Given the description of an element on the screen output the (x, y) to click on. 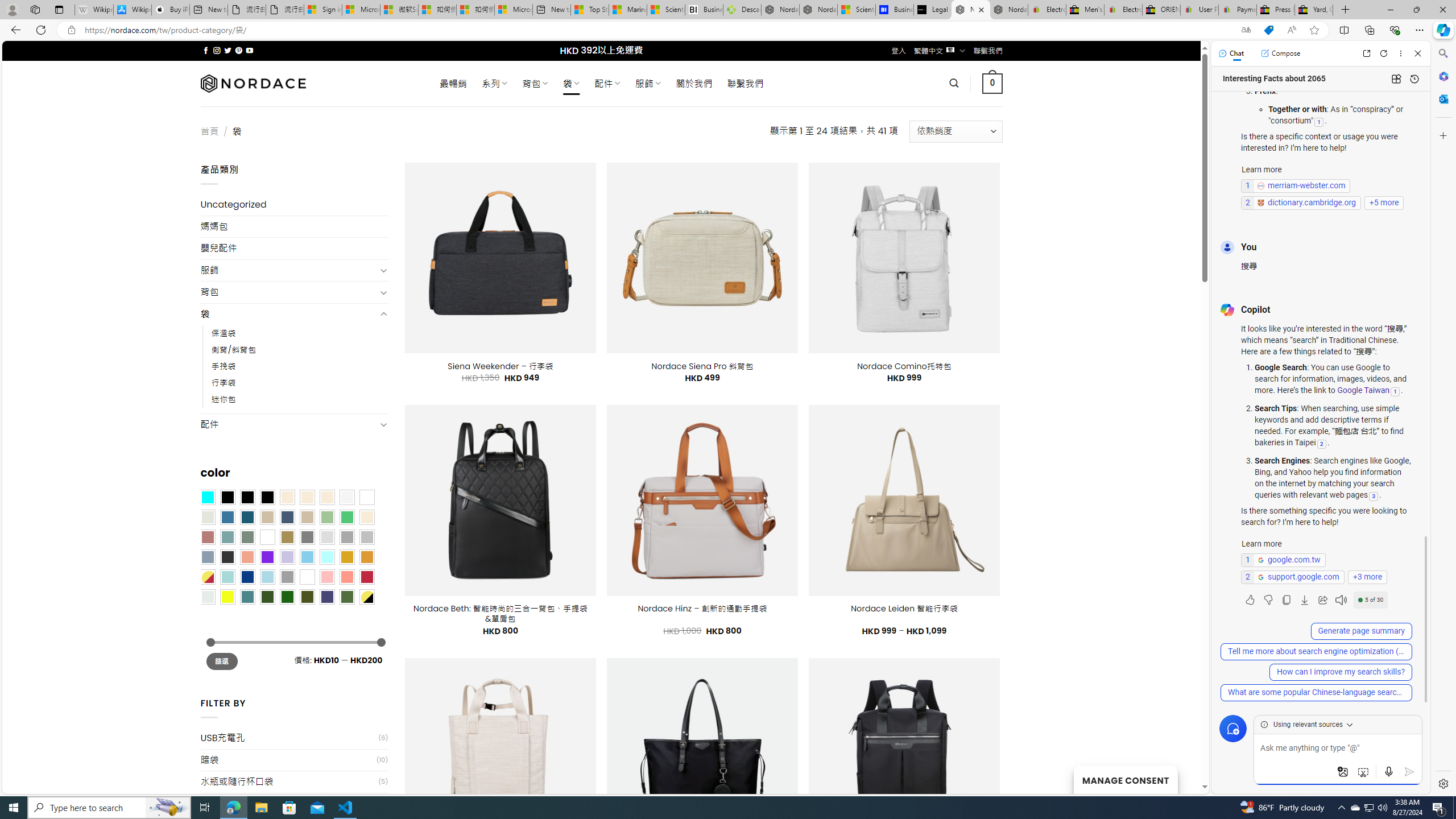
Follow on Pinterest (237, 50)
Uncategorized (294, 204)
Marine life - MSN (628, 9)
